Given the description of an element on the screen output the (x, y) to click on. 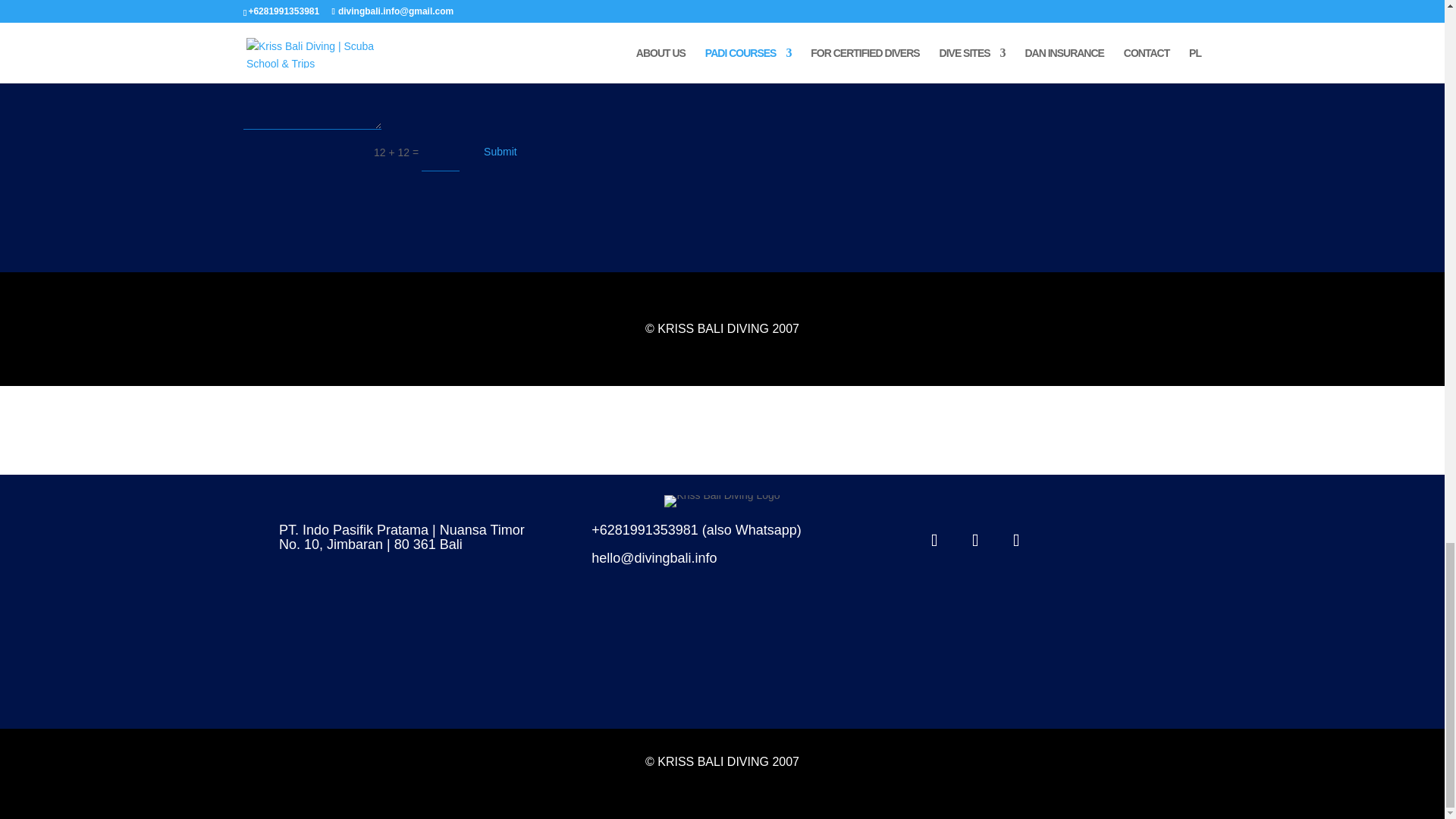
Follow on Facebook (934, 2)
Follow on Instagram (975, 2)
LOGO FOR WEBSITEx (720, 500)
Submit (500, 152)
Follow on Youtube (1015, 2)
Follow on Telegram (1056, 2)
Follow on Youtube (1015, 540)
Follow on Instagram (975, 540)
Follow on Facebook (934, 540)
